Given the description of an element on the screen output the (x, y) to click on. 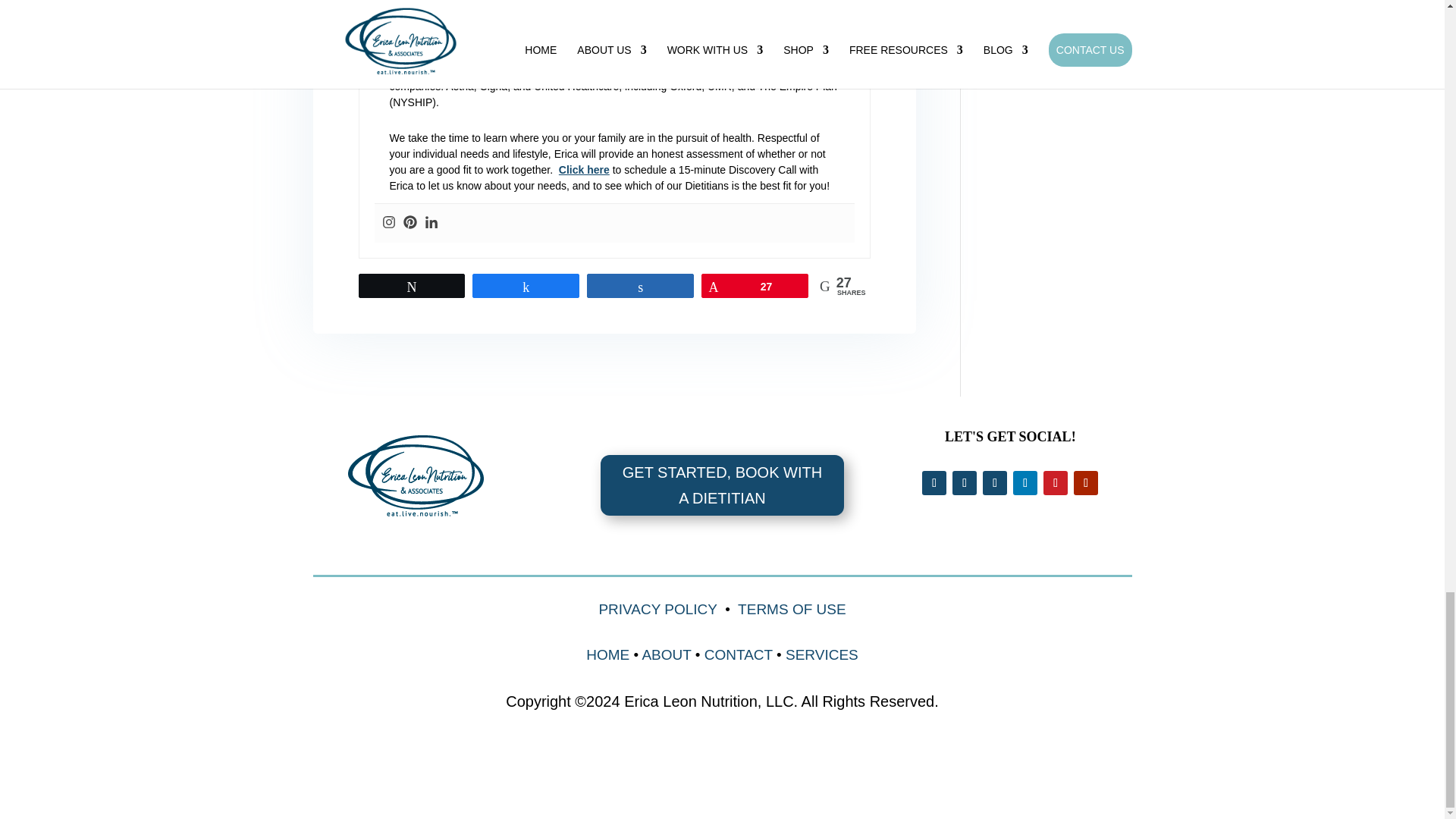
Follow on Facebook (933, 482)
Follow on Youtube (1085, 482)
Follow on Pinterest (1055, 482)
Follow on X (964, 482)
Screen Shot 2022-01-22 at 3.25.31 PM (419, 479)
Follow on LinkedIn (1024, 482)
Follow on Instagram (994, 482)
